Given the description of an element on the screen output the (x, y) to click on. 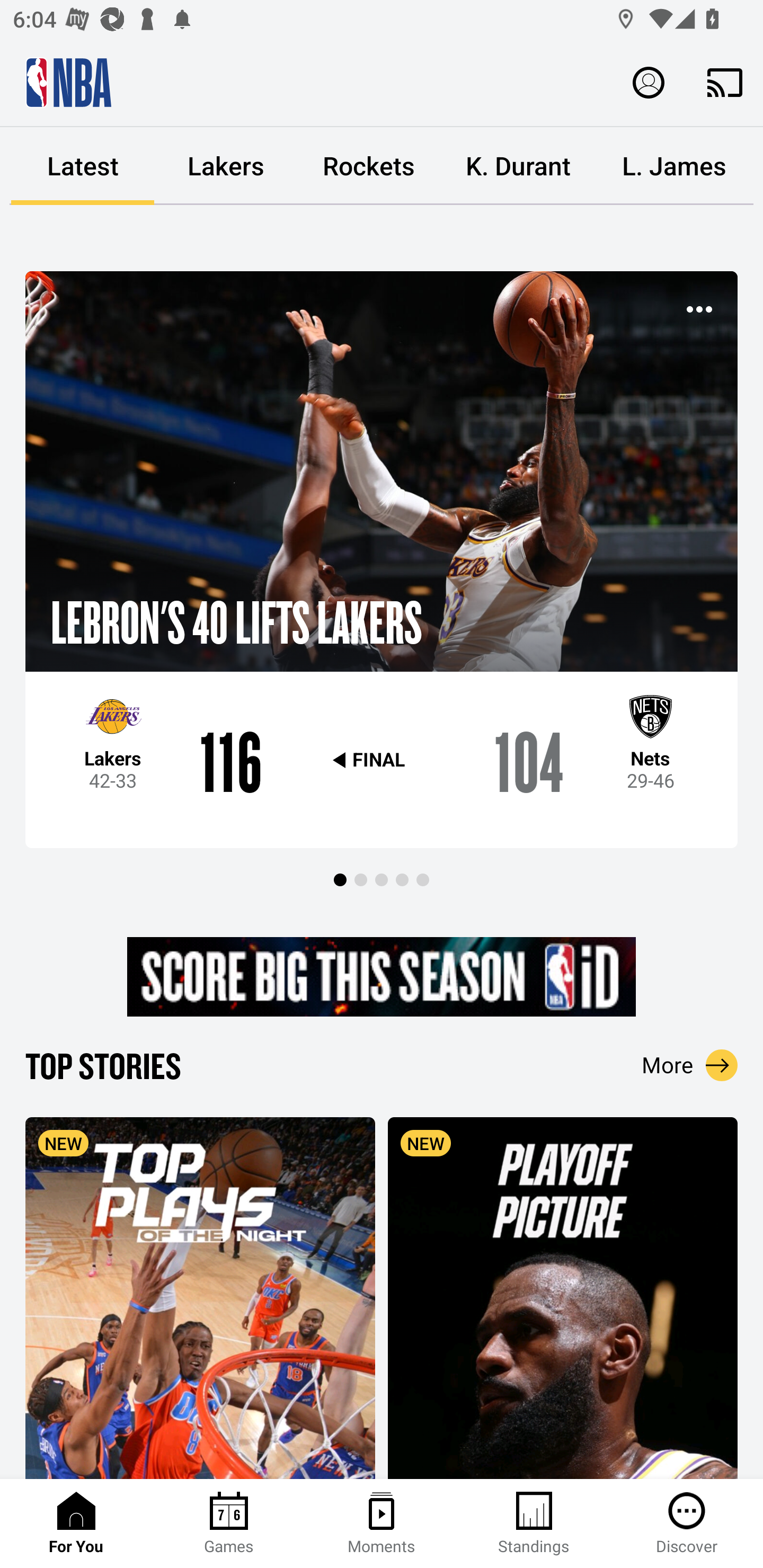
Cast. Disconnected (724, 82)
Profile (648, 81)
Lakers (225, 166)
Rockets (368, 166)
K. Durant (518, 166)
L. James (673, 166)
TOP STORIES More NEW NEW (381, 1260)
More (689, 1064)
NEW (200, 1297)
NEW (562, 1297)
Games (228, 1523)
Moments (381, 1523)
Standings (533, 1523)
Discover (686, 1523)
